Given the description of an element on the screen output the (x, y) to click on. 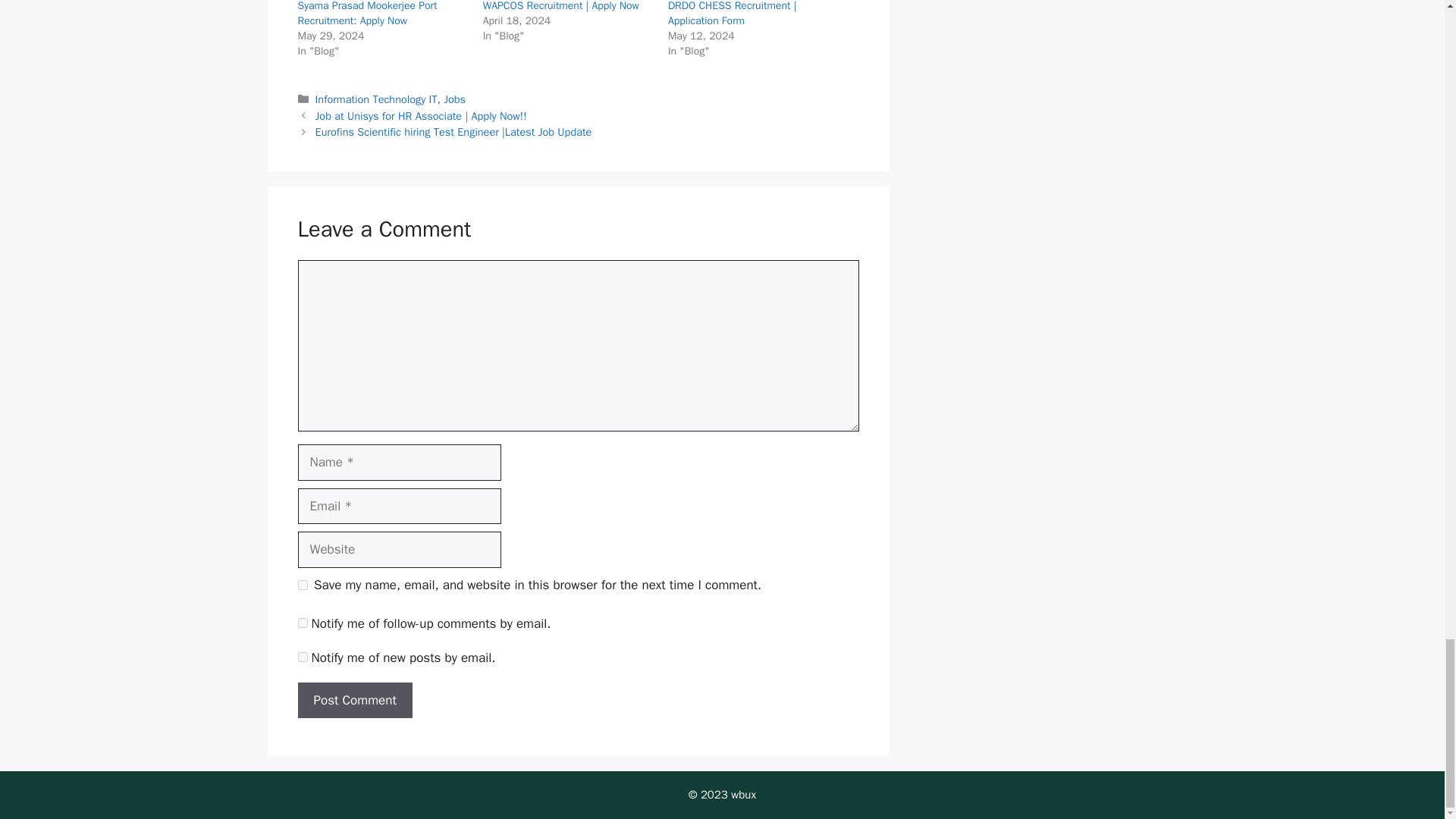
subscribe (302, 623)
subscribe (302, 656)
yes (302, 584)
Syama Prasad Mookerjee Port Recruitment: Apply Now (366, 13)
Post Comment (354, 700)
